Given the description of an element on the screen output the (x, y) to click on. 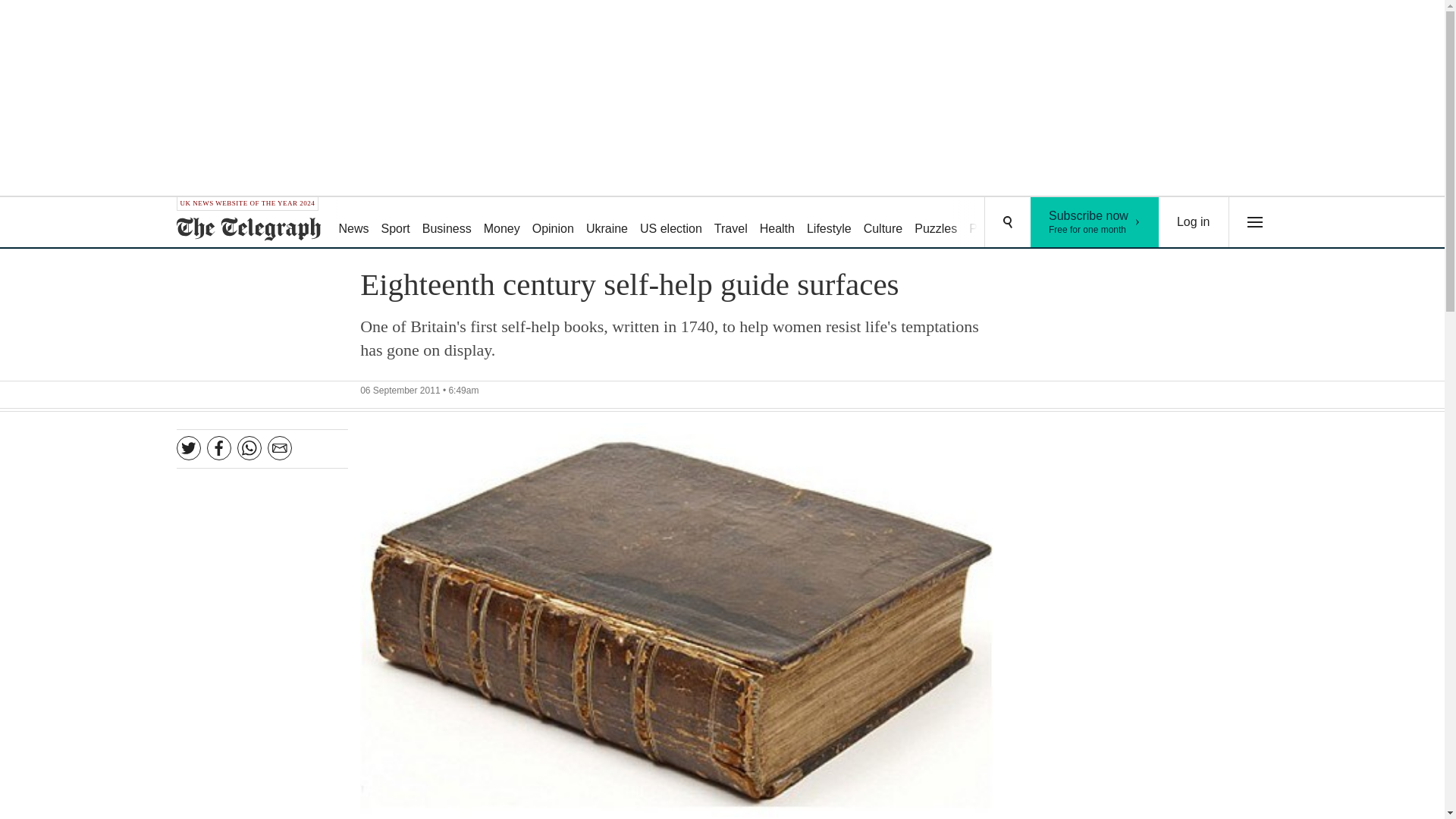
Money (501, 223)
Log in (1193, 222)
Puzzles (935, 223)
Ukraine (606, 223)
Culture (882, 223)
Business (446, 223)
Health (777, 223)
Lifestyle (828, 223)
Podcasts (993, 223)
US election (670, 223)
